Given the description of an element on the screen output the (x, y) to click on. 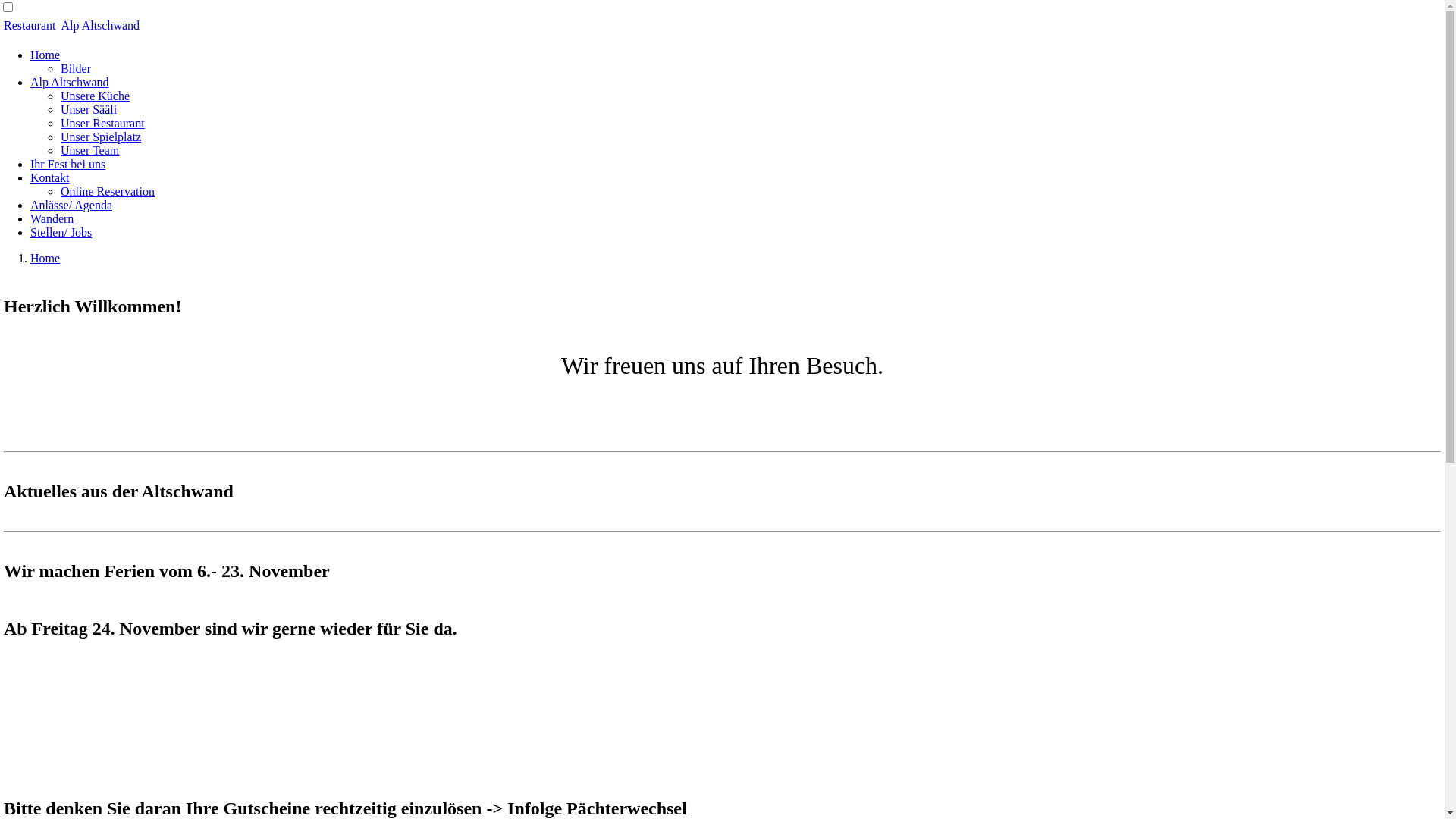
Wandern Element type: text (51, 218)
Online Reservation Element type: text (107, 191)
Restaurant  Alp Altschwand Element type: text (721, 25)
Kontakt Element type: text (49, 177)
Home Element type: text (44, 54)
Ihr Fest bei uns Element type: text (67, 163)
Home Element type: text (44, 257)
Unser Spielplatz Element type: text (100, 136)
Alp Altschwand Element type: text (69, 81)
Unser Team Element type: text (89, 150)
Unser Restaurant Element type: text (102, 122)
Stellen/ Jobs Element type: text (60, 231)
Bilder Element type: text (75, 68)
